Given the description of an element on the screen output the (x, y) to click on. 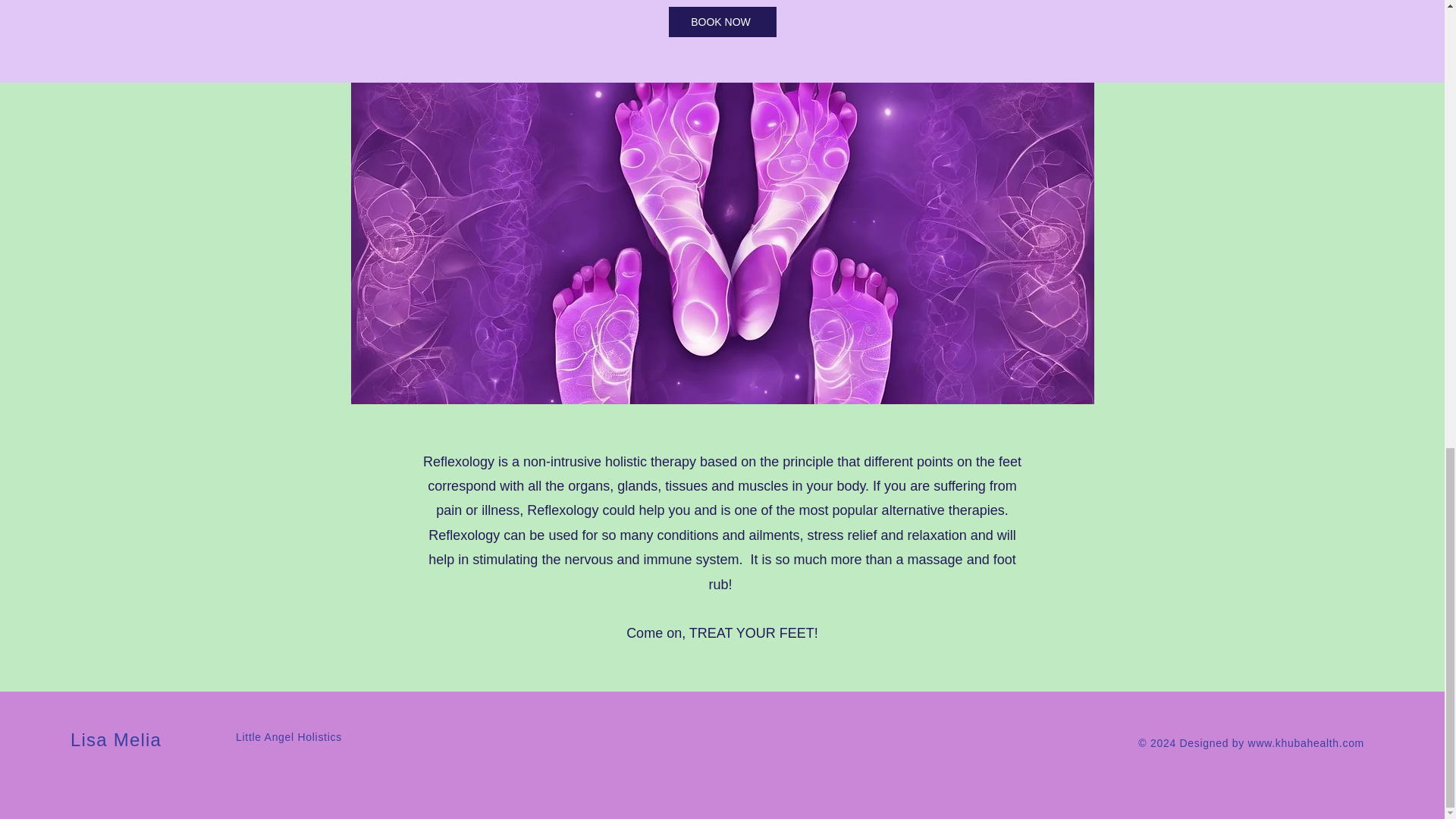
BOOK NOW (722, 21)
www.khubahealth.com (1305, 743)
Lisa Melia (115, 739)
